Given the description of an element on the screen output the (x, y) to click on. 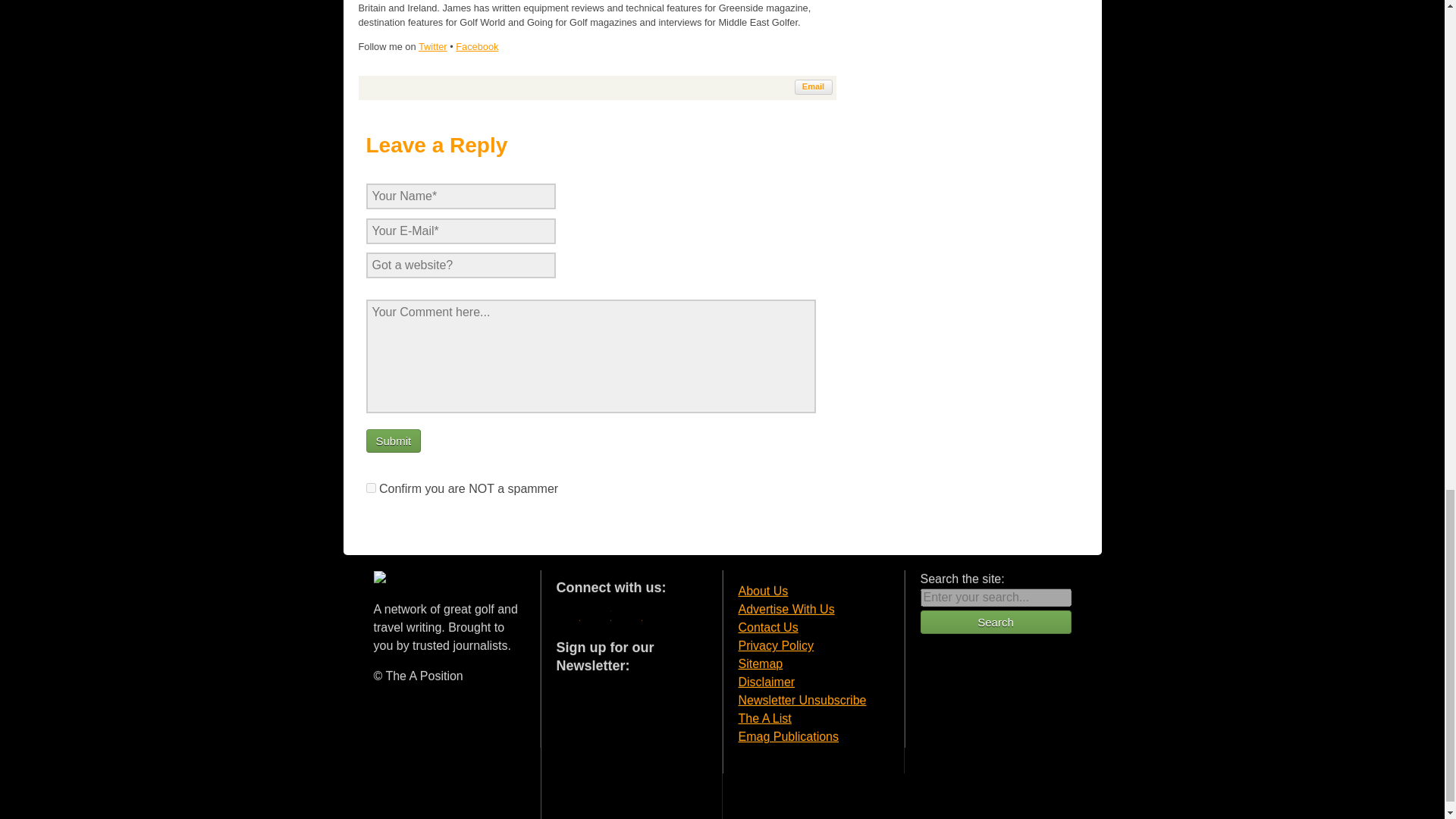
Submit (392, 440)
Facebook (476, 46)
Follow James Mason on Facebook (476, 46)
on (370, 488)
Follow James Mason on Twitter (432, 46)
Search (995, 621)
Twitter (432, 46)
Email (813, 87)
